Given the description of an element on the screen output the (x, y) to click on. 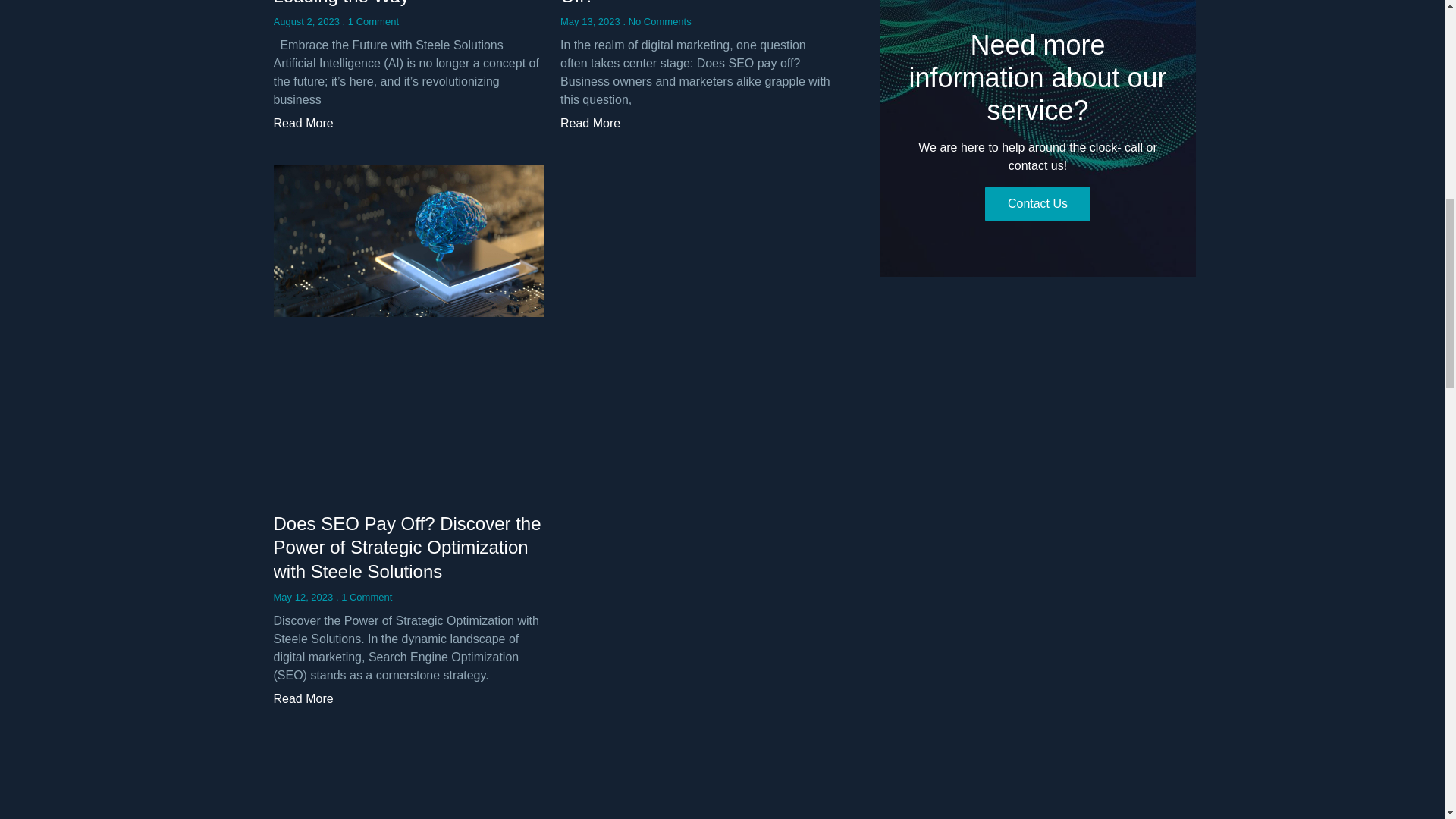
Read More (303, 123)
What are the Average SEO Charges, and Does SEO Pay Off? (678, 2)
